Given the description of an element on the screen output the (x, y) to click on. 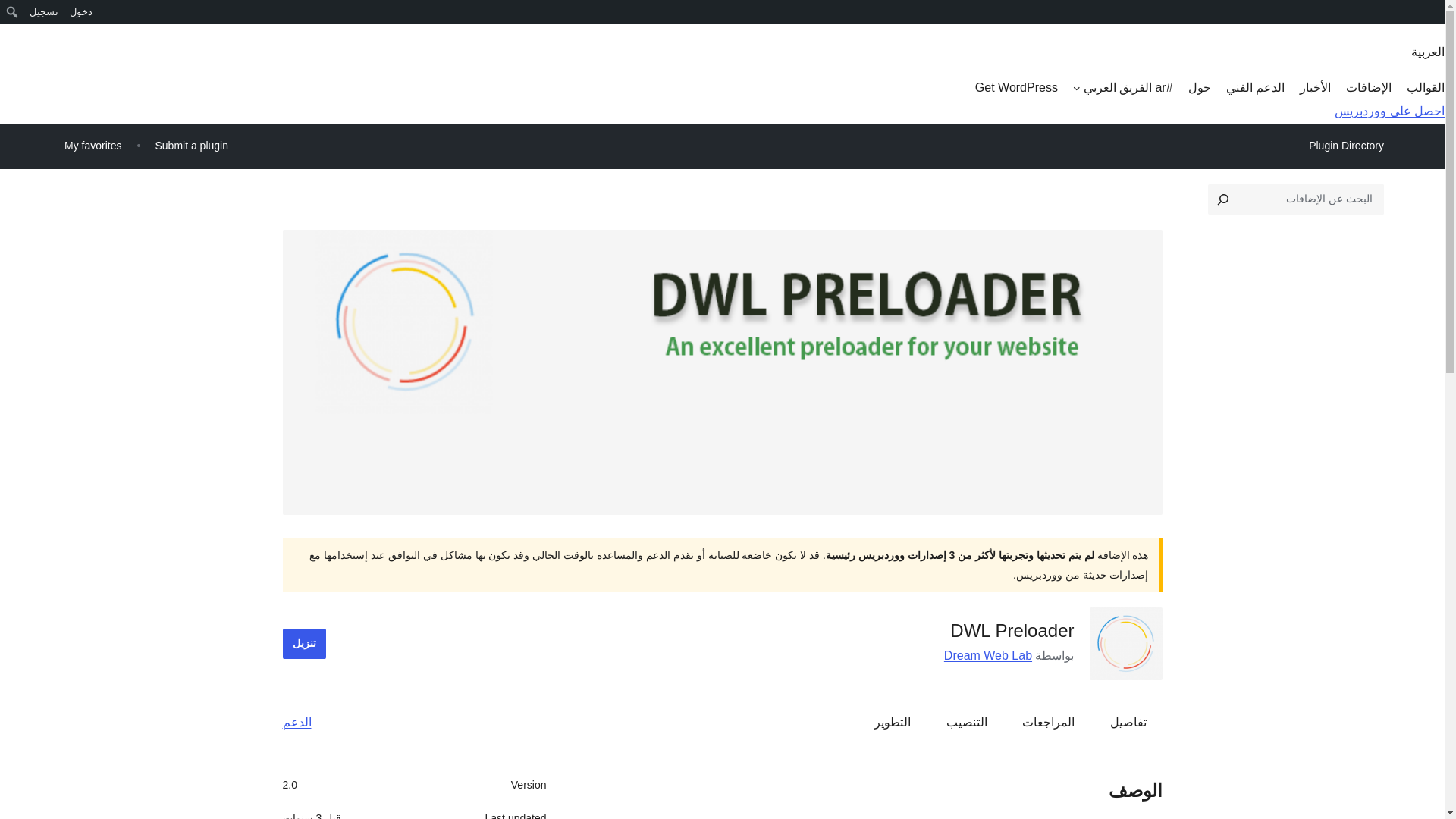
Submit a plugin (191, 145)
Dream Web Lab (987, 655)
My favorites (93, 145)
Get WordPress (1016, 87)
Plugin Directory (1345, 145)
